Given the description of an element on the screen output the (x, y) to click on. 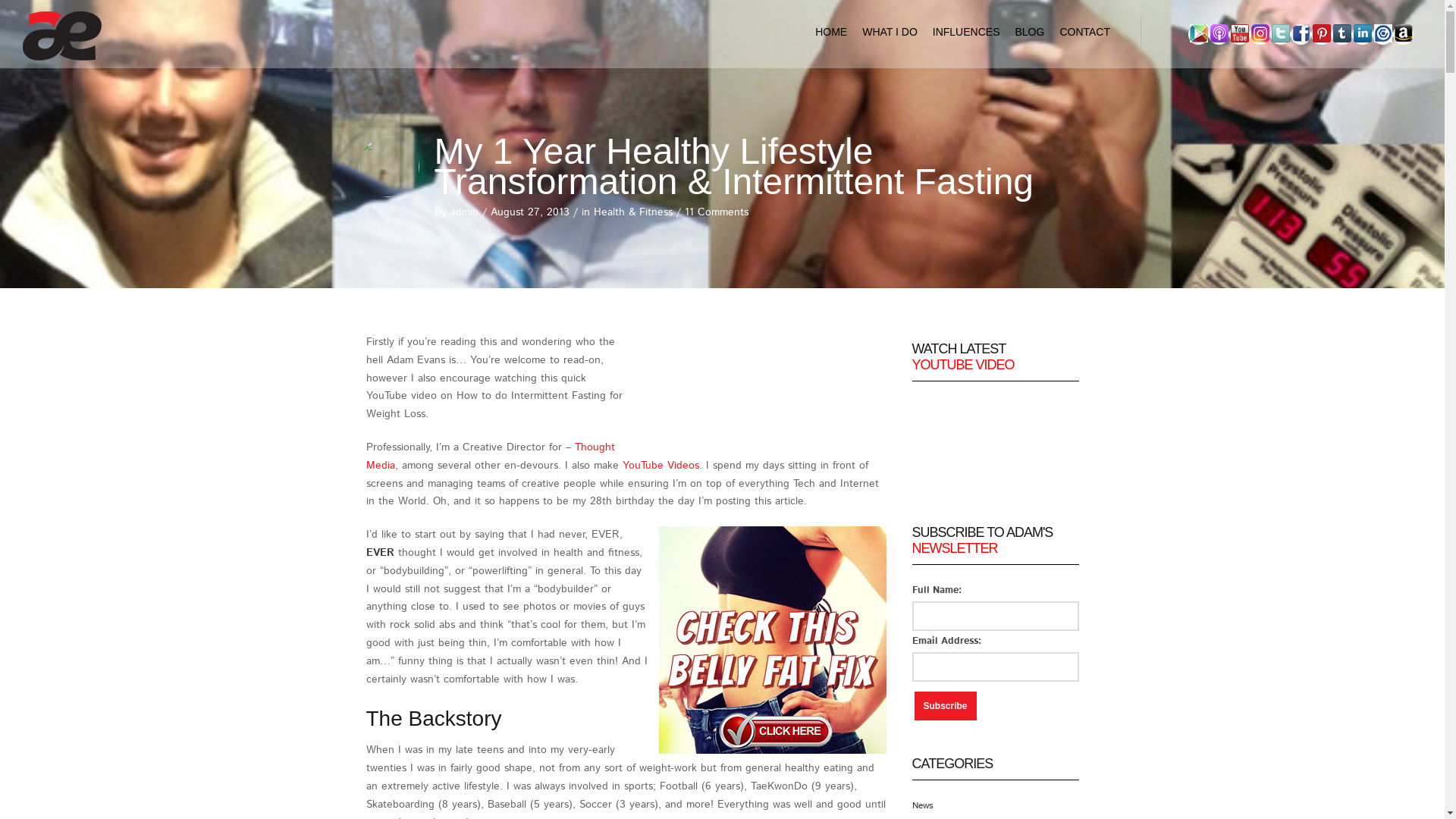
News Element type: text (921, 805)
We the aether Podcast Element type: hover (1218, 34)
Twitter Element type: hover (1279, 33)
11 Comments Element type: text (715, 211)
Download ae App on Google Play Element type: hover (1198, 33)
YouTuber Adam Evans Element type: hover (1239, 33)
Tumblr Element type: hover (1342, 33)
facebook Element type: hover (1300, 34)
 Videos Element type: text (680, 465)
YouTube Element type: text (641, 465)
pinterest Element type: hover (1320, 34)
Amazon Element type: hover (1402, 33)
BLOG Element type: text (1029, 31)
instagram Element type: hover (1259, 34)
Online Marketing Expert Element type: hover (1361, 34)
We the aether Podcast Element type: hover (1219, 33)
Online Marketing Expert Element type: hover (1361, 33)
Lifehack Element type: hover (1383, 33)
Subscribe Element type: text (945, 705)
By admin Element type: text (455, 211)
CONTACT Element type: text (1084, 31)
Download ae App on Google Play Element type: hover (1197, 34)
facebook Element type: hover (1301, 33)
Amazon Element type: hover (1402, 34)
HOME Element type: text (831, 31)
Thought Media Element type: text (489, 456)
YouTuber Adam Evans Element type: hover (1238, 34)
Adam Evans Official Website Element type: hover (64, 39)
Twitter Element type: hover (1279, 34)
Lifehack Element type: hover (1382, 34)
Health & Fitness Element type: text (632, 211)
WHAT I DO Element type: text (889, 31)
INFLUENCES Element type: text (966, 31)
pinterest Element type: hover (1320, 33)
Tumblr Element type: hover (1341, 34)
instagram Element type: hover (1260, 33)
YouTube Video Player Element type: hover (994, 447)
